Given the description of an element on the screen output the (x, y) to click on. 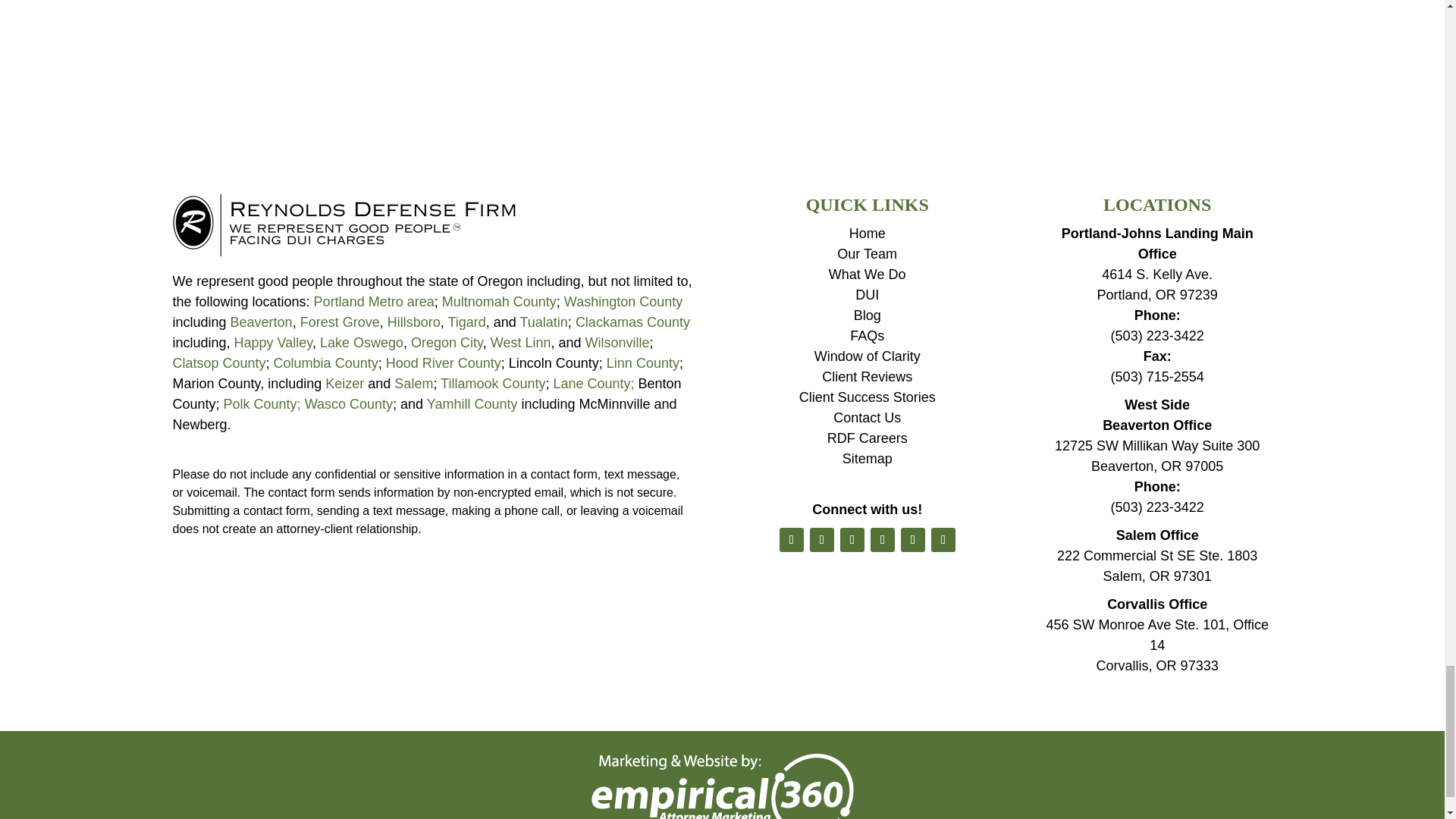
Follow on LinkedIn (852, 539)
Follow on Youtube (882, 539)
justia-reynoldsdefensefirm-com (344, 225)
Follow on Instagram (912, 539)
Follow on Facebook (790, 539)
Follow on X (821, 539)
